Given the description of an element on the screen output the (x, y) to click on. 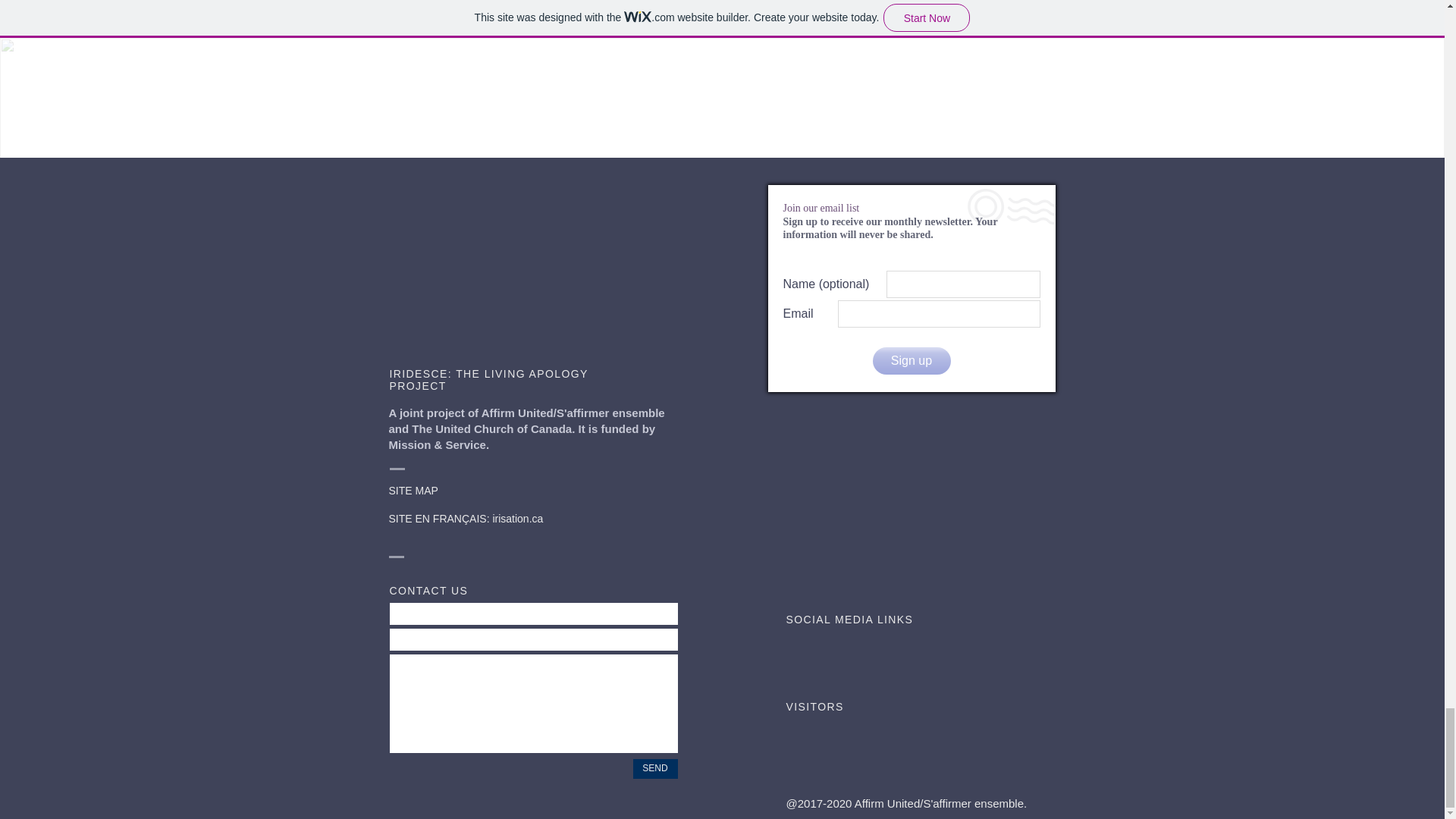
SEND (654, 768)
Sign up (911, 360)
SITE MAP (413, 490)
